Given the description of an element on the screen output the (x, y) to click on. 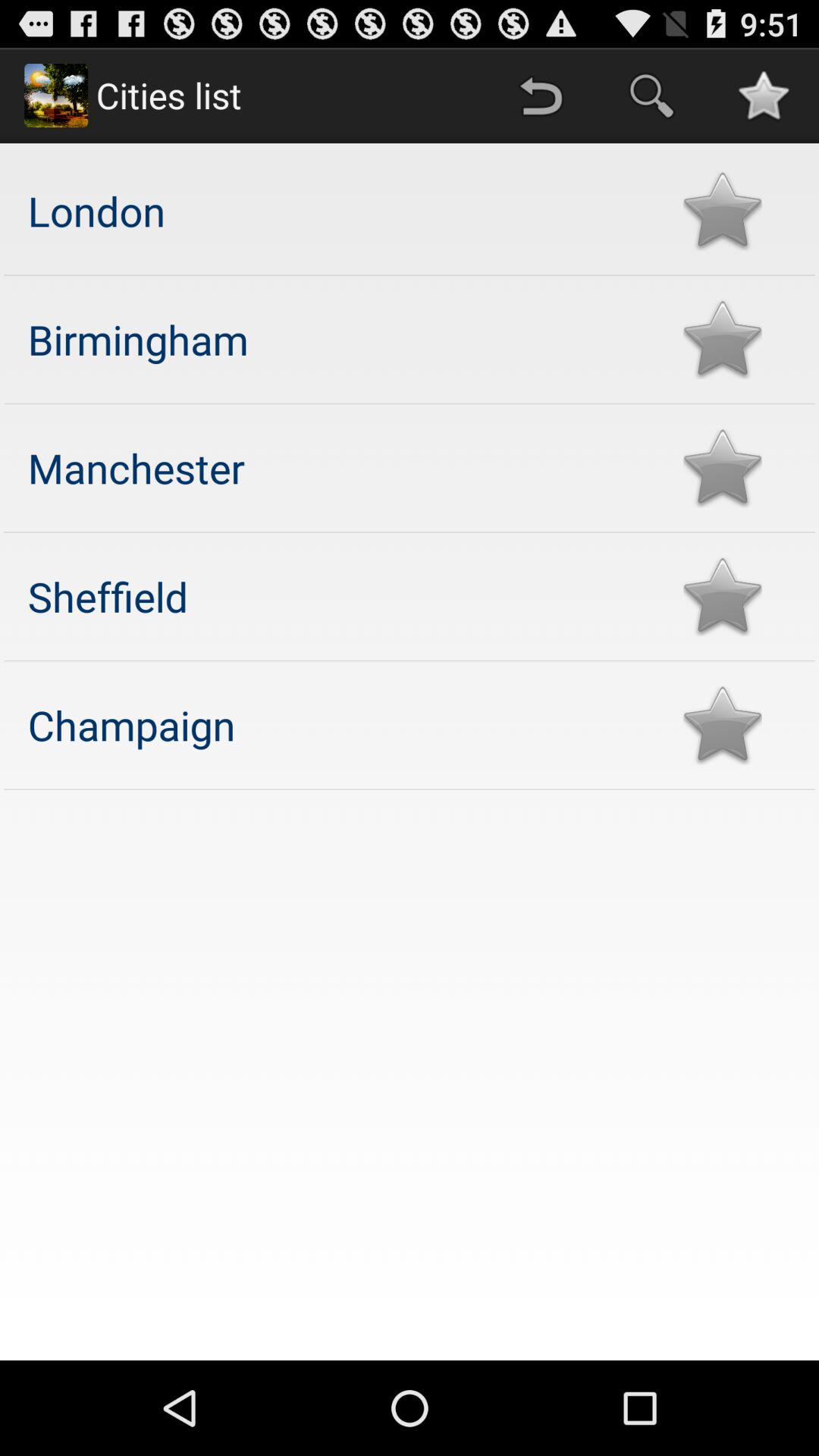
rate the best (722, 339)
